Given the description of an element on the screen output the (x, y) to click on. 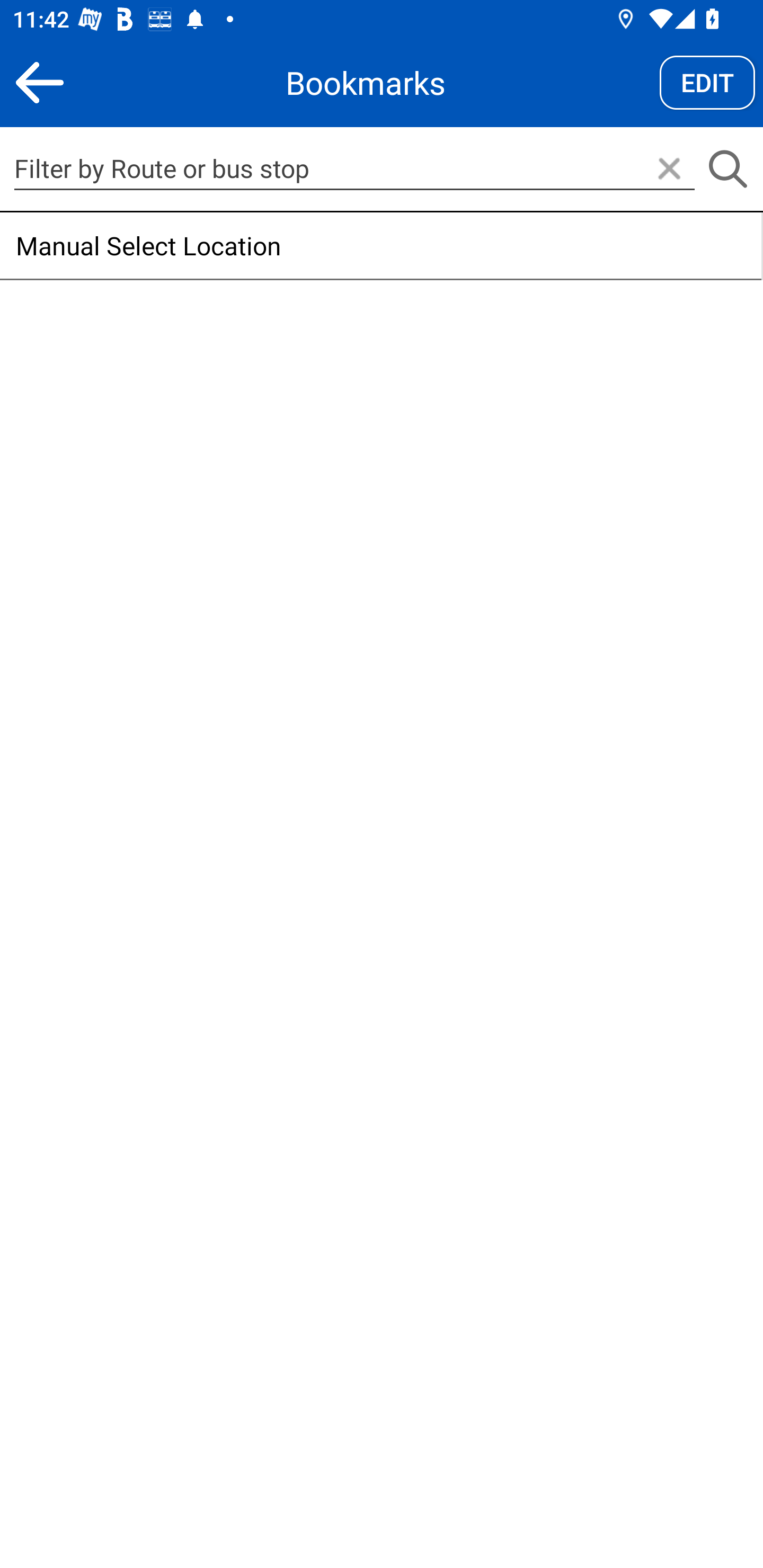
Back (39, 82)
EDIT Edit (707, 81)
Filter by Route or bus stop (354, 168)
Search (727, 169)
Clear (669, 169)
Manual Select Location (380, 245)
